Given the description of an element on the screen output the (x, y) to click on. 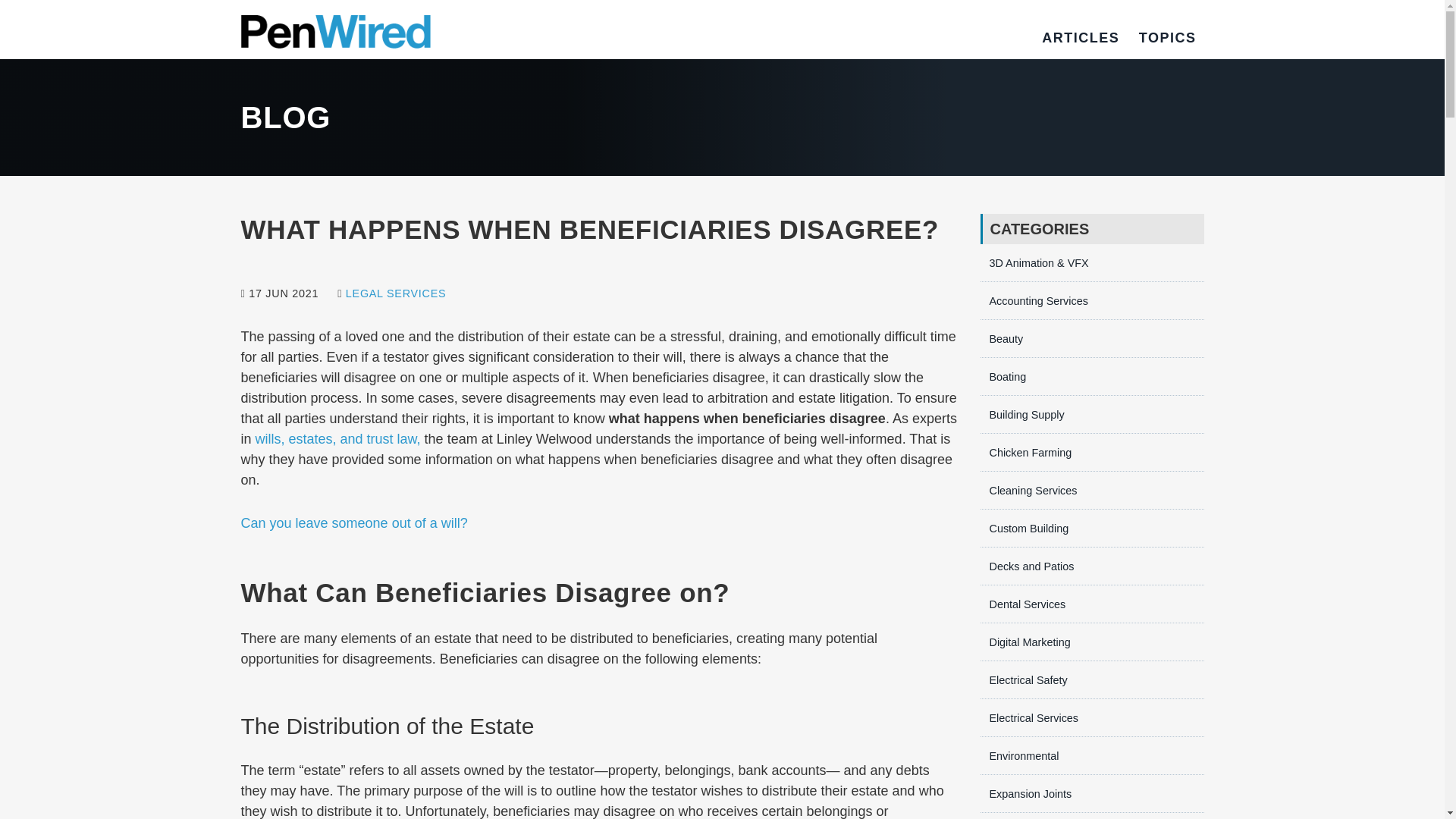
Beauty (1001, 338)
Digital Marketing (1024, 642)
Can you leave someone out of a will? (354, 522)
Building Supply (1021, 414)
wills, estates, and trust law, (338, 438)
Boating (1002, 377)
LEGAL SERVICES (395, 293)
Electrical Services (1028, 717)
ARTICLES (1080, 37)
Chicken Farming (1025, 452)
